Given the description of an element on the screen output the (x, y) to click on. 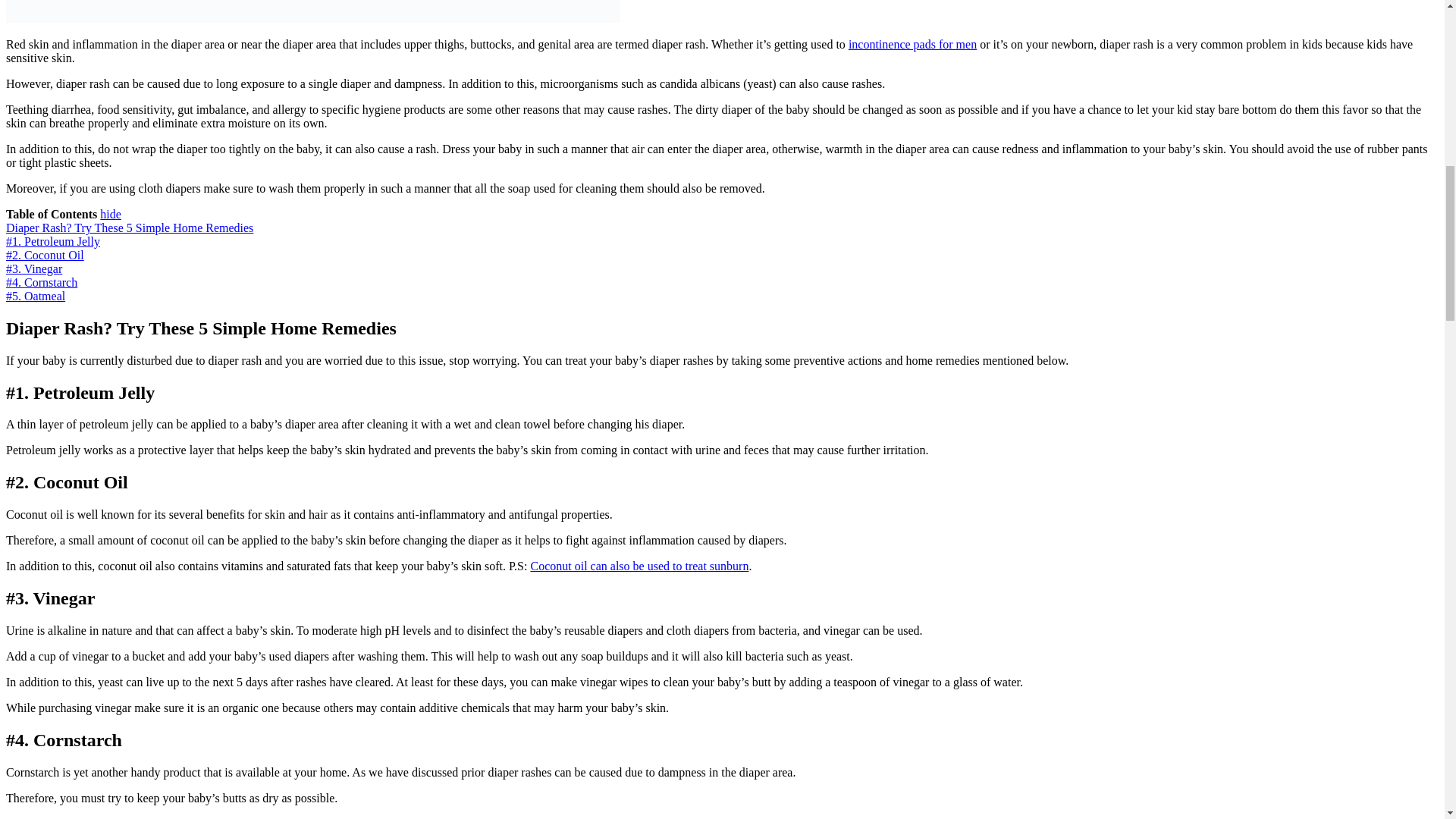
Coconut oil can also be used to treat sunburn (638, 565)
incontinence pads for men (912, 43)
hide (110, 214)
Diaper Rash? Try These 5 Simple Home Remedies (129, 227)
